Given the description of an element on the screen output the (x, y) to click on. 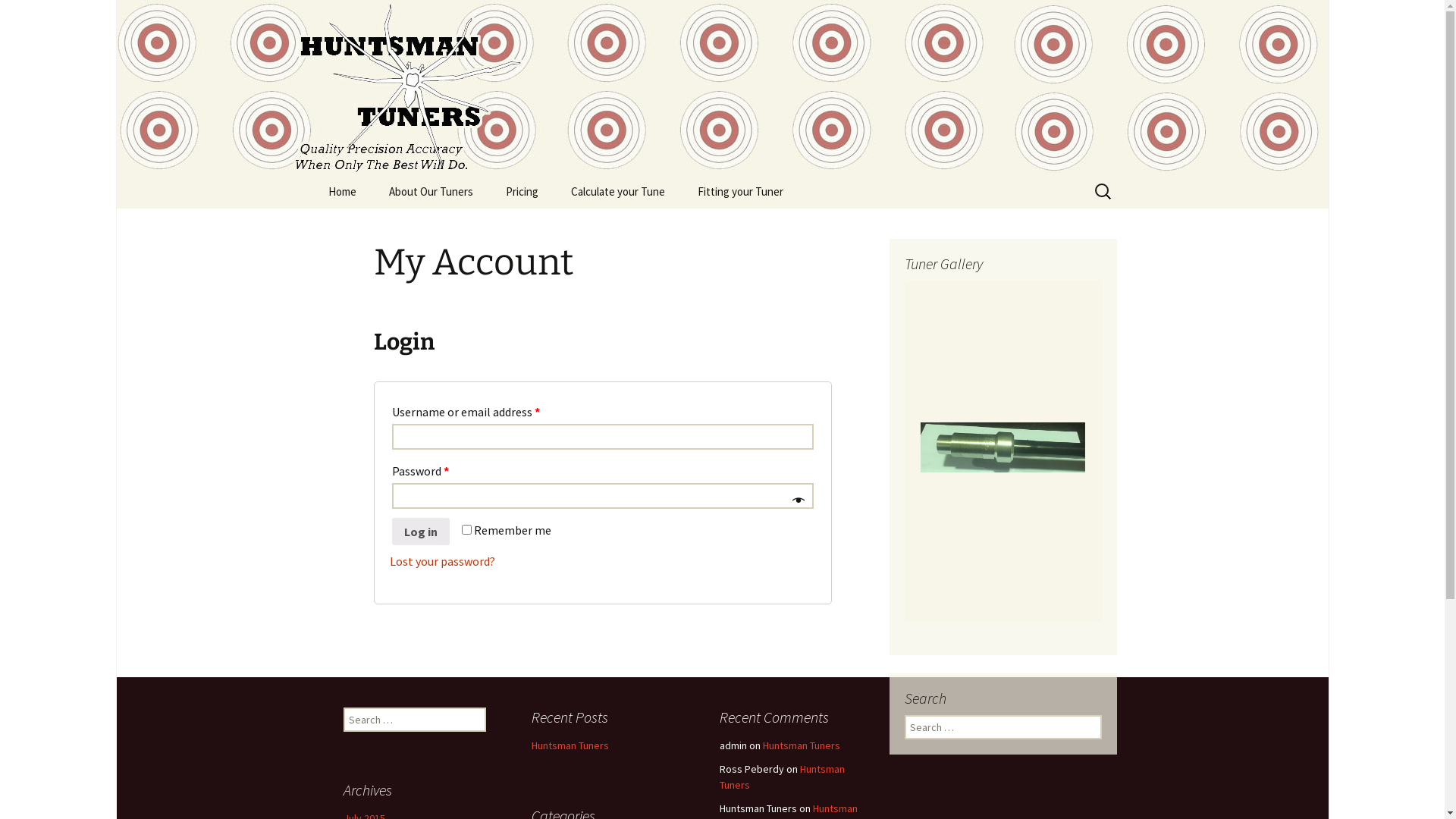
Home Element type: text (341, 191)
Huntsman Tuners Element type: text (801, 745)
Search Element type: text (18, 16)
About Our Tuners Element type: text (430, 191)
Huntsman Tuners
Precision Rifle Tuners Element type: text (721, 87)
Pricing Element type: text (520, 191)
Skip to content Element type: text (312, 173)
Lost your password? Element type: text (442, 560)
Calculate your Tune Element type: text (617, 191)
Fitting your Tuner Element type: text (740, 191)
Huntsman Tuners Element type: text (781, 776)
Log in Element type: text (419, 531)
Search Element type: text (34, 15)
Huntsman Tuners Element type: text (569, 745)
